Given the description of an element on the screen output the (x, y) to click on. 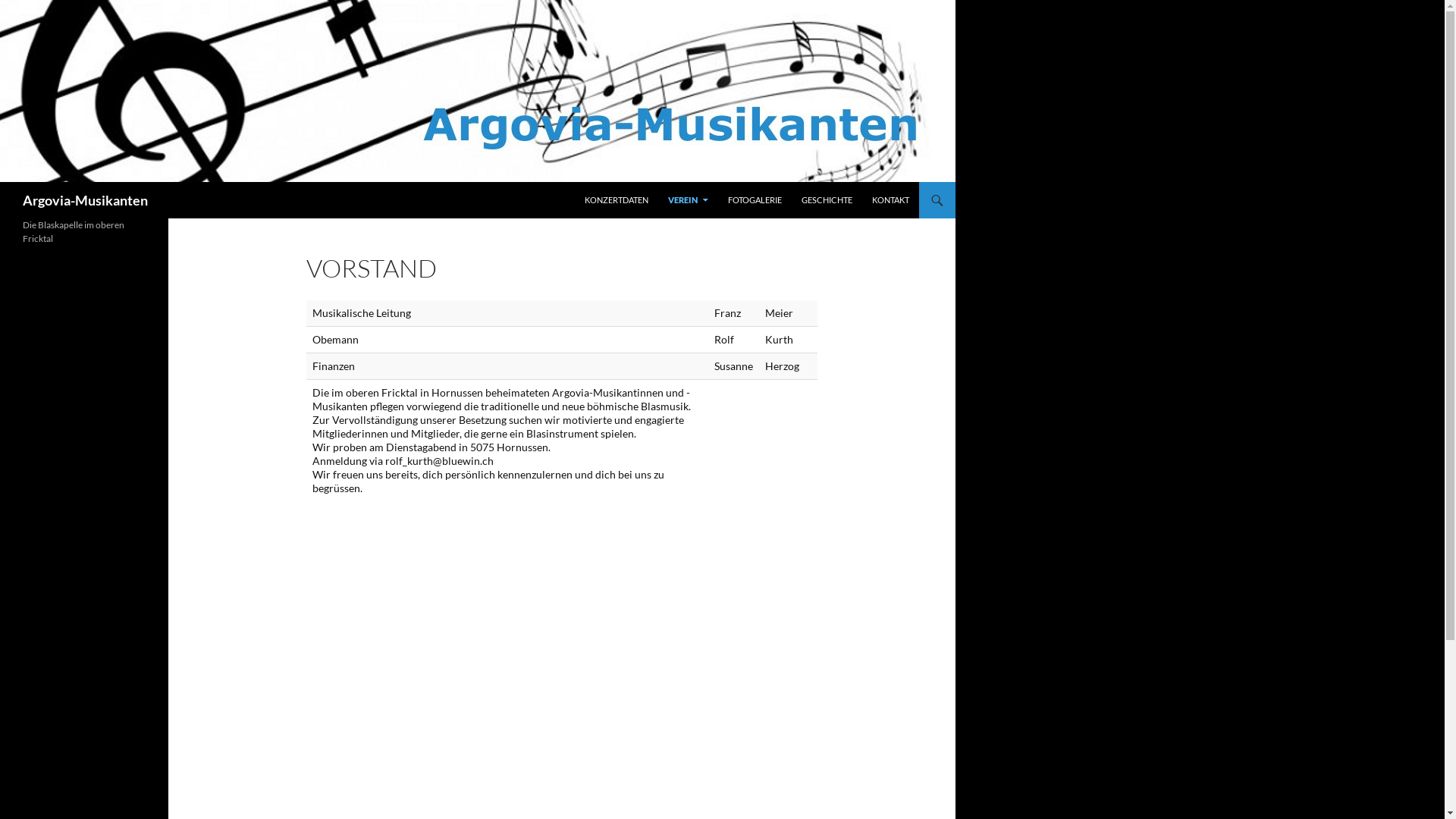
Argovia-Musikanten Element type: text (84, 200)
KONTAKT Element type: text (890, 200)
GESCHICHTE Element type: text (826, 200)
Suchen Element type: text (3, 181)
VEREIN Element type: text (687, 200)
FOTOGALERIE Element type: text (754, 200)
KONZERTDATEN Element type: text (616, 200)
ZUM INHALT SPRINGEN Element type: text (583, 181)
